Given the description of an element on the screen output the (x, y) to click on. 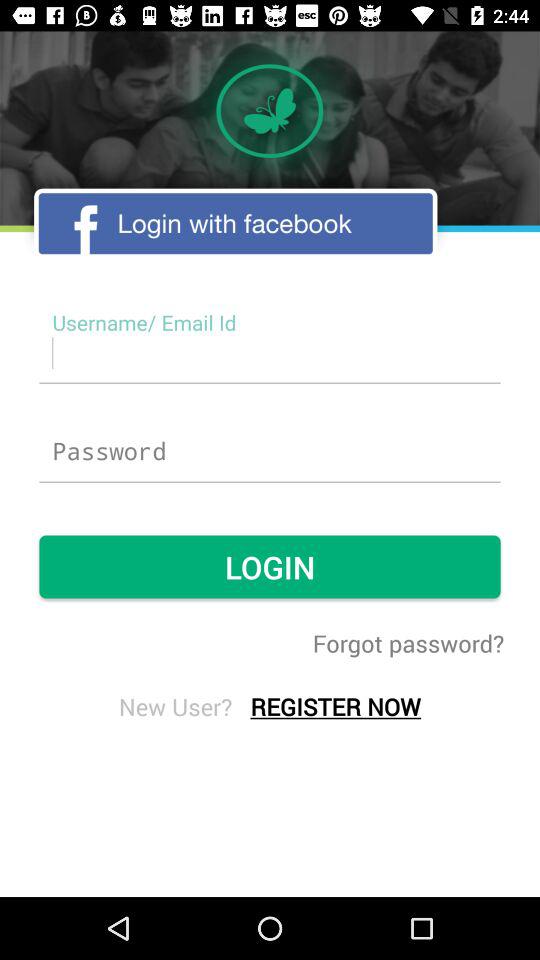
enter text (269, 352)
